Given the description of an element on the screen output the (x, y) to click on. 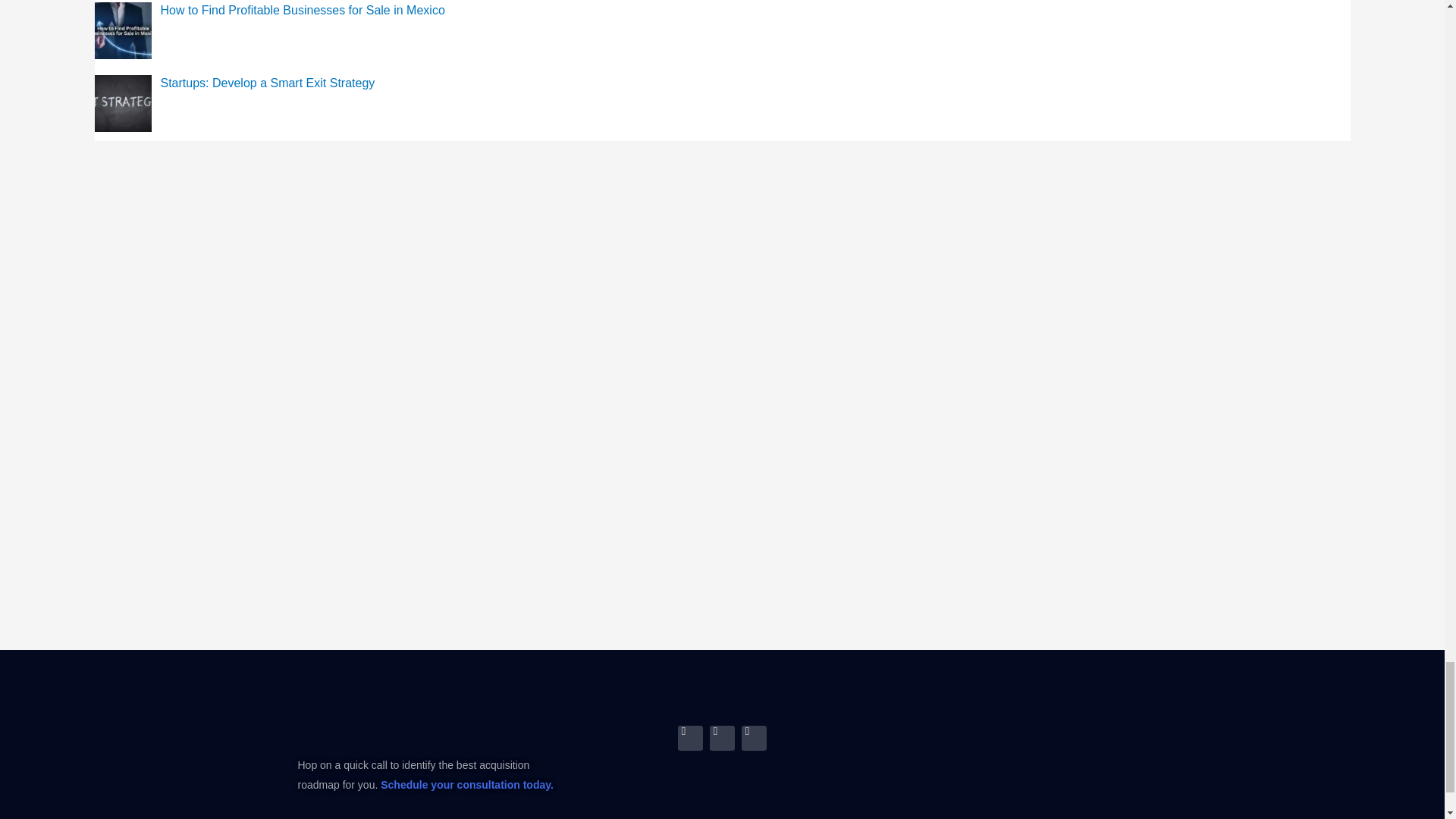
Schedule your consultation today. (466, 784)
How to Find Profitable Businesses for Sale in Mexico (302, 10)
Linkedin (690, 738)
Startups: Develop a Smart Exit Strategy (267, 82)
